Given the description of an element on the screen output the (x, y) to click on. 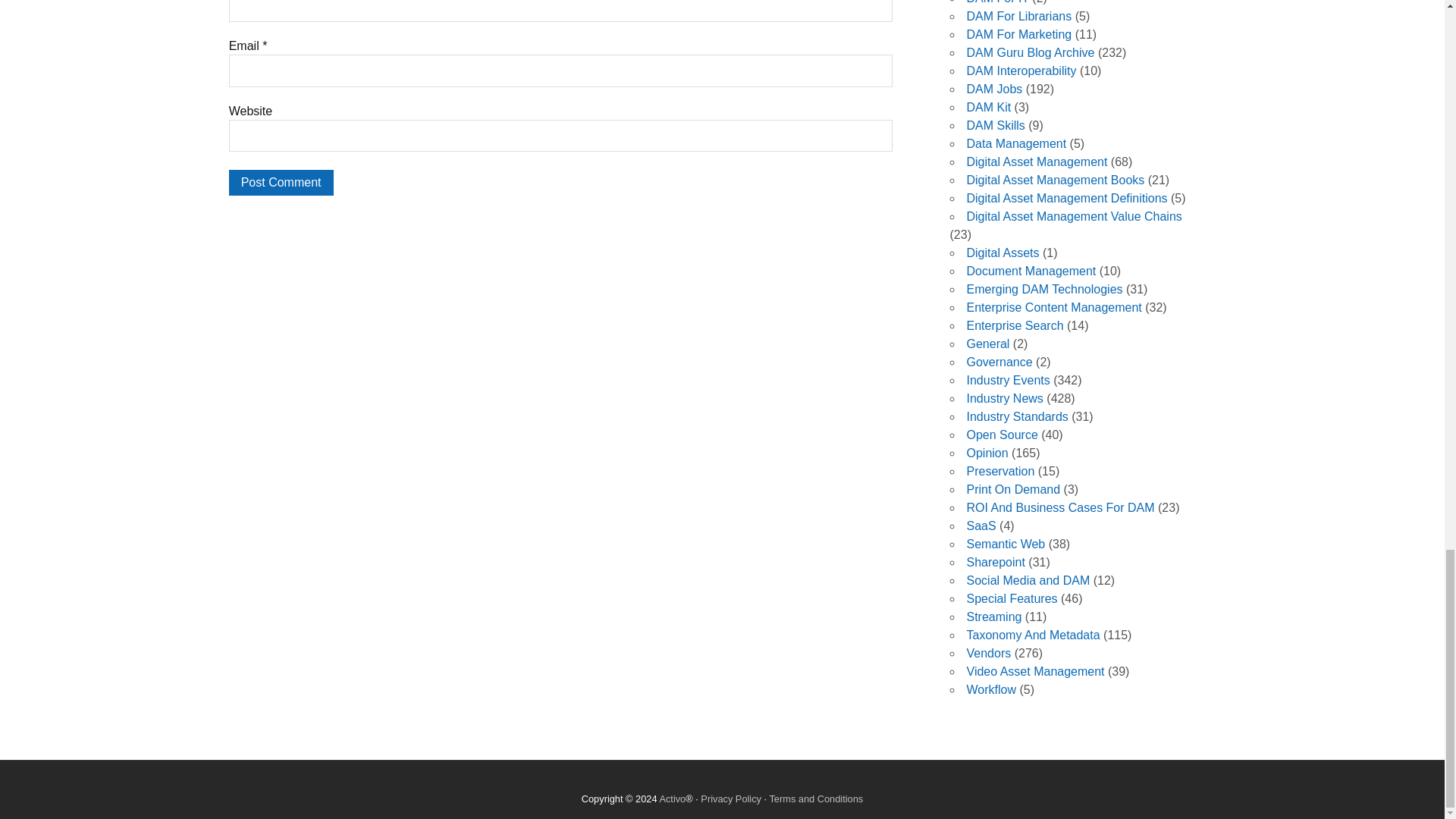
Post Comment (280, 182)
